Given the description of an element on the screen output the (x, y) to click on. 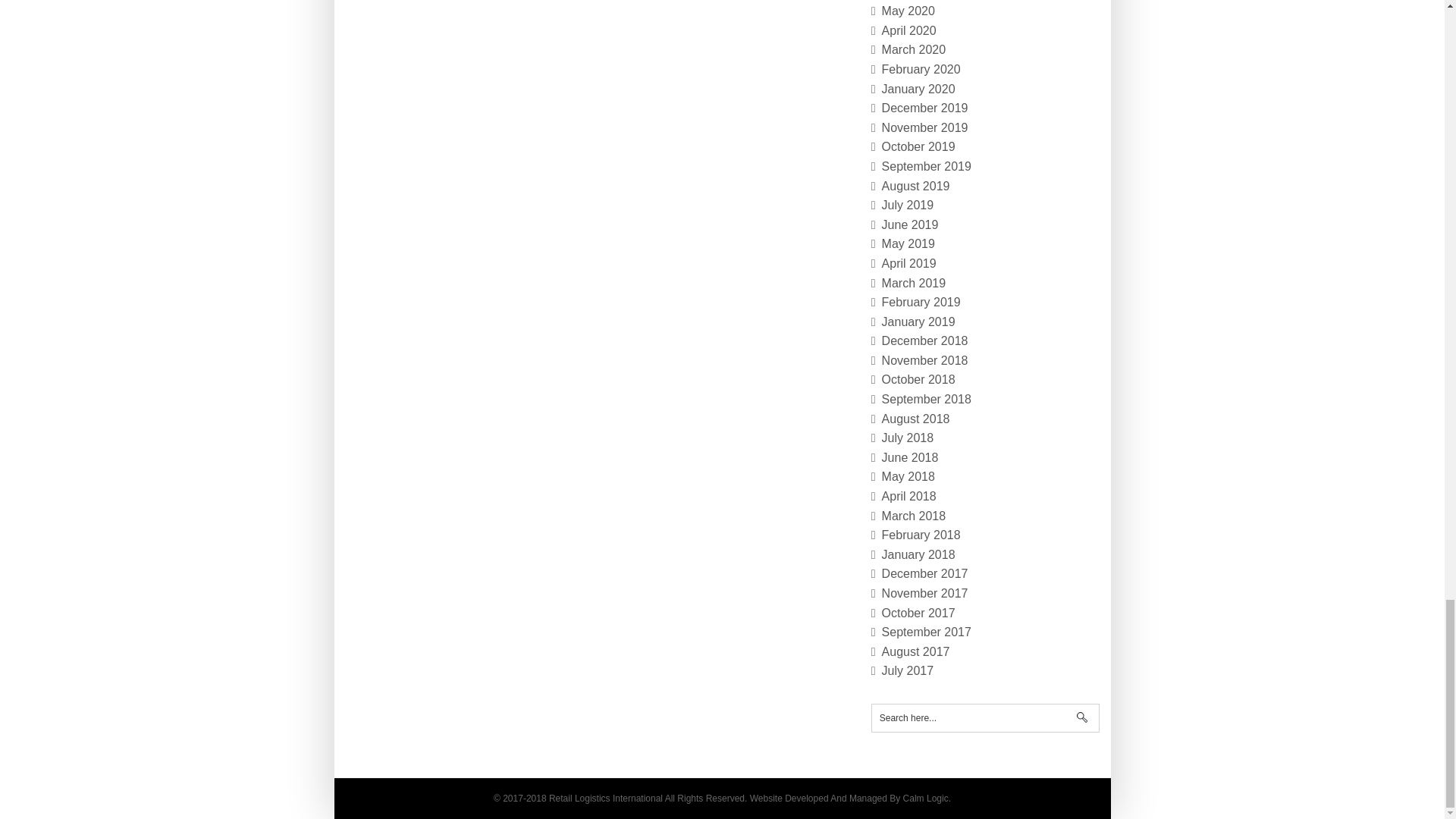
Search here... (984, 717)
